Given the description of an element on the screen output the (x, y) to click on. 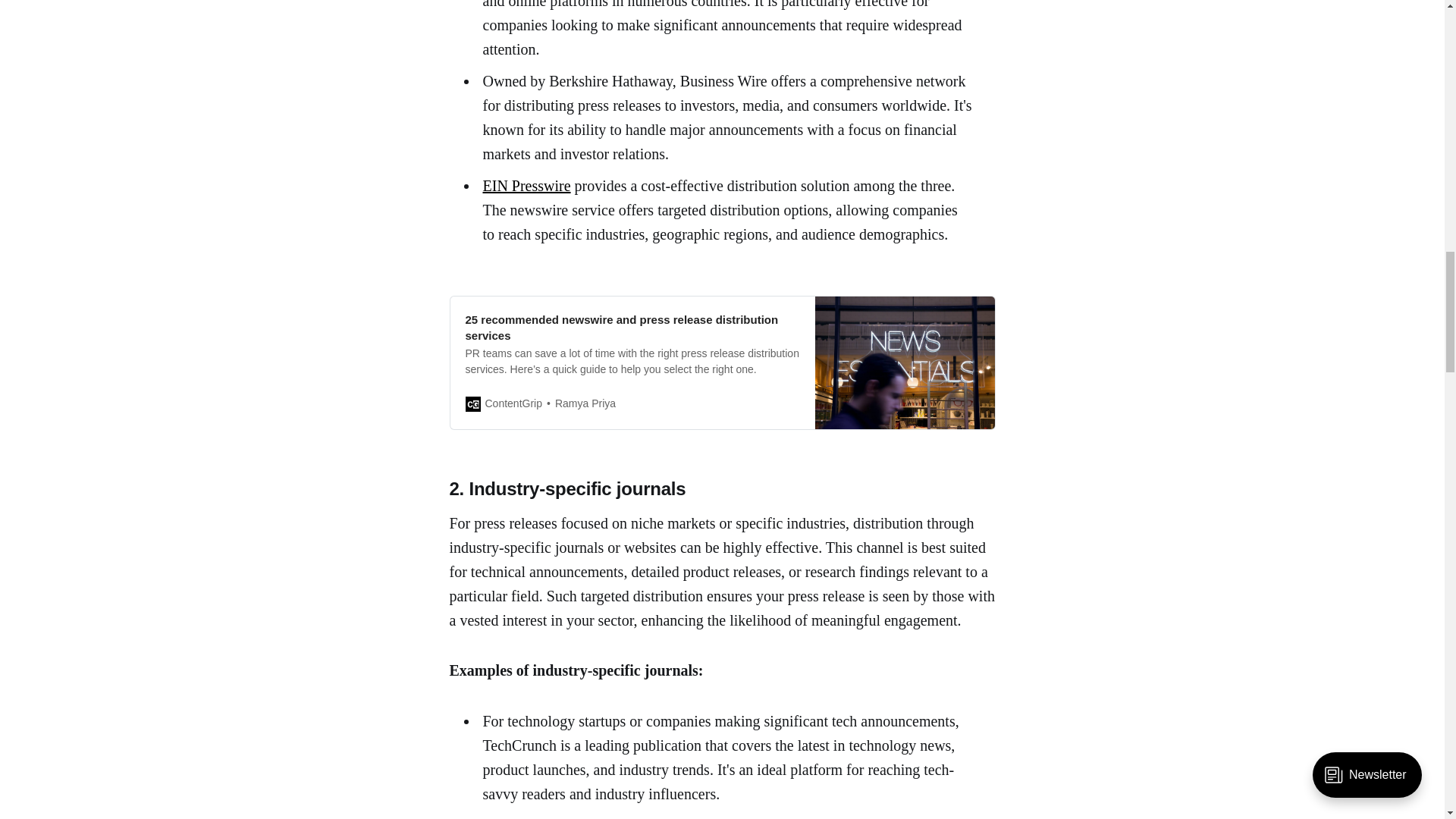
EIN Presswire (525, 185)
